Given the description of an element on the screen output the (x, y) to click on. 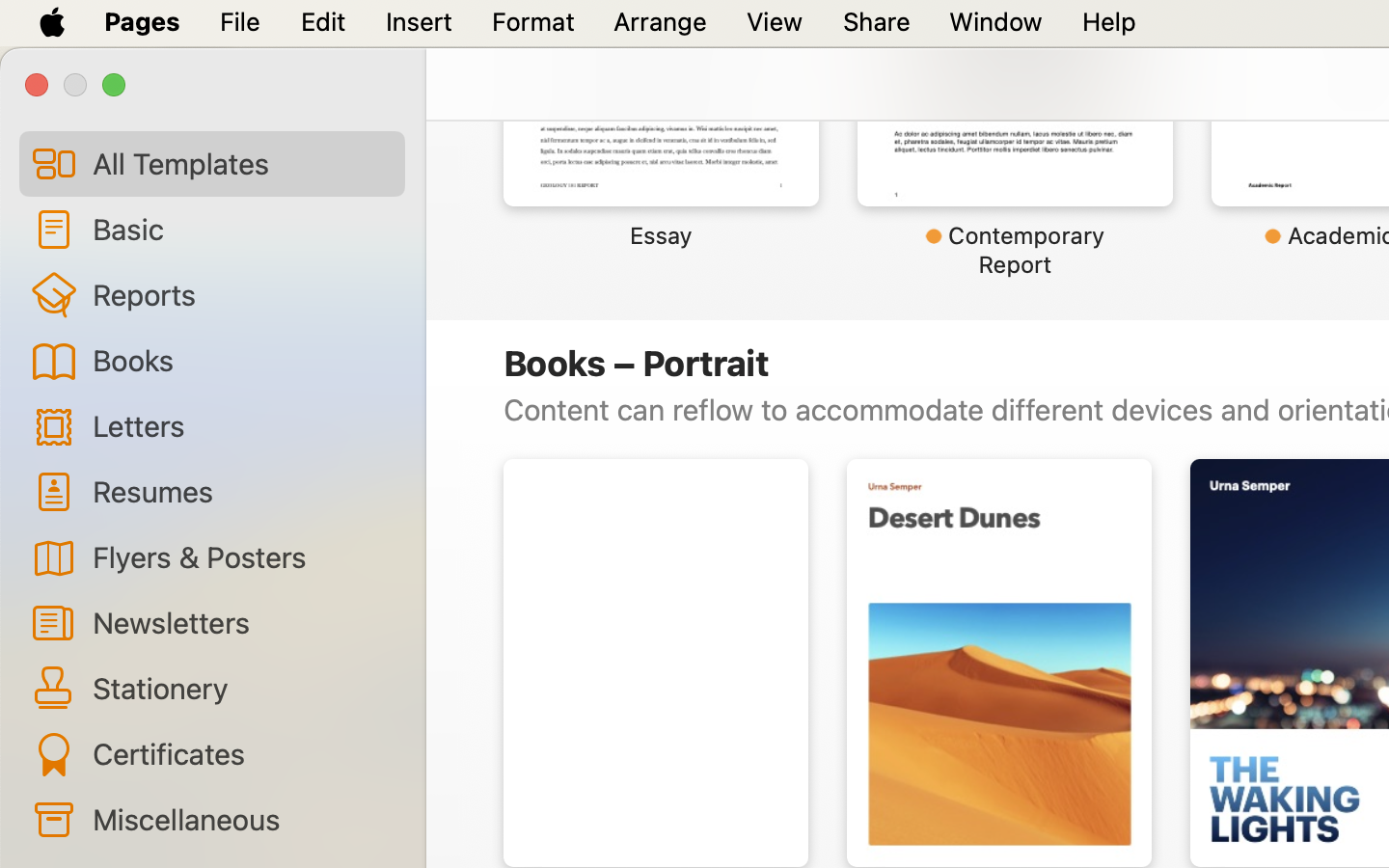
All Templates Element type: AXStaticText (240, 162)
Stationery Element type: AXStaticText (240, 687)
Basic Element type: AXStaticText (240, 228)
Reports Element type: AXStaticText (240, 293)
Newsletters Element type: AXStaticText (240, 621)
